Given the description of an element on the screen output the (x, y) to click on. 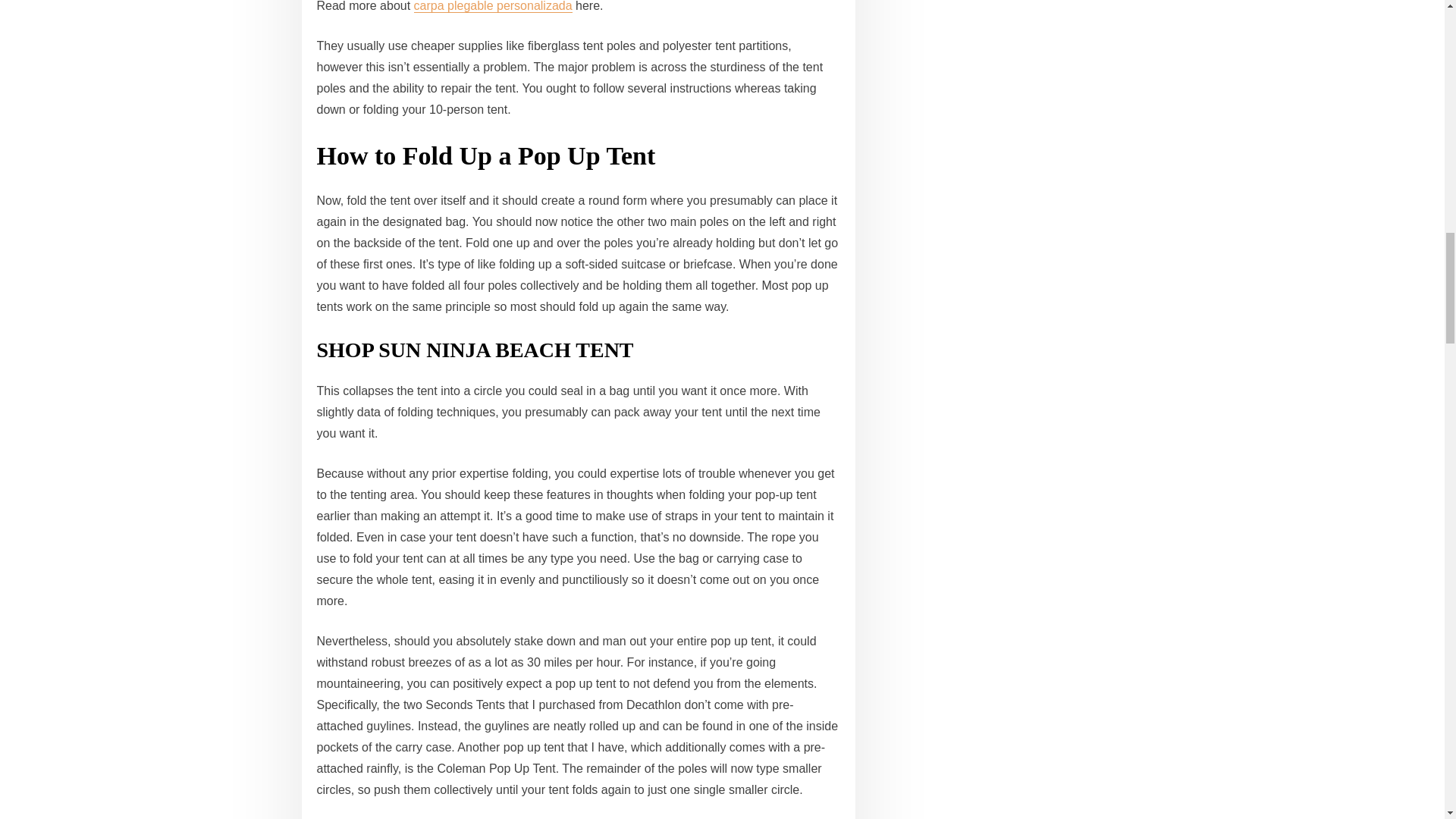
carpa plegable personalizada (492, 6)
